Given the description of an element on the screen output the (x, y) to click on. 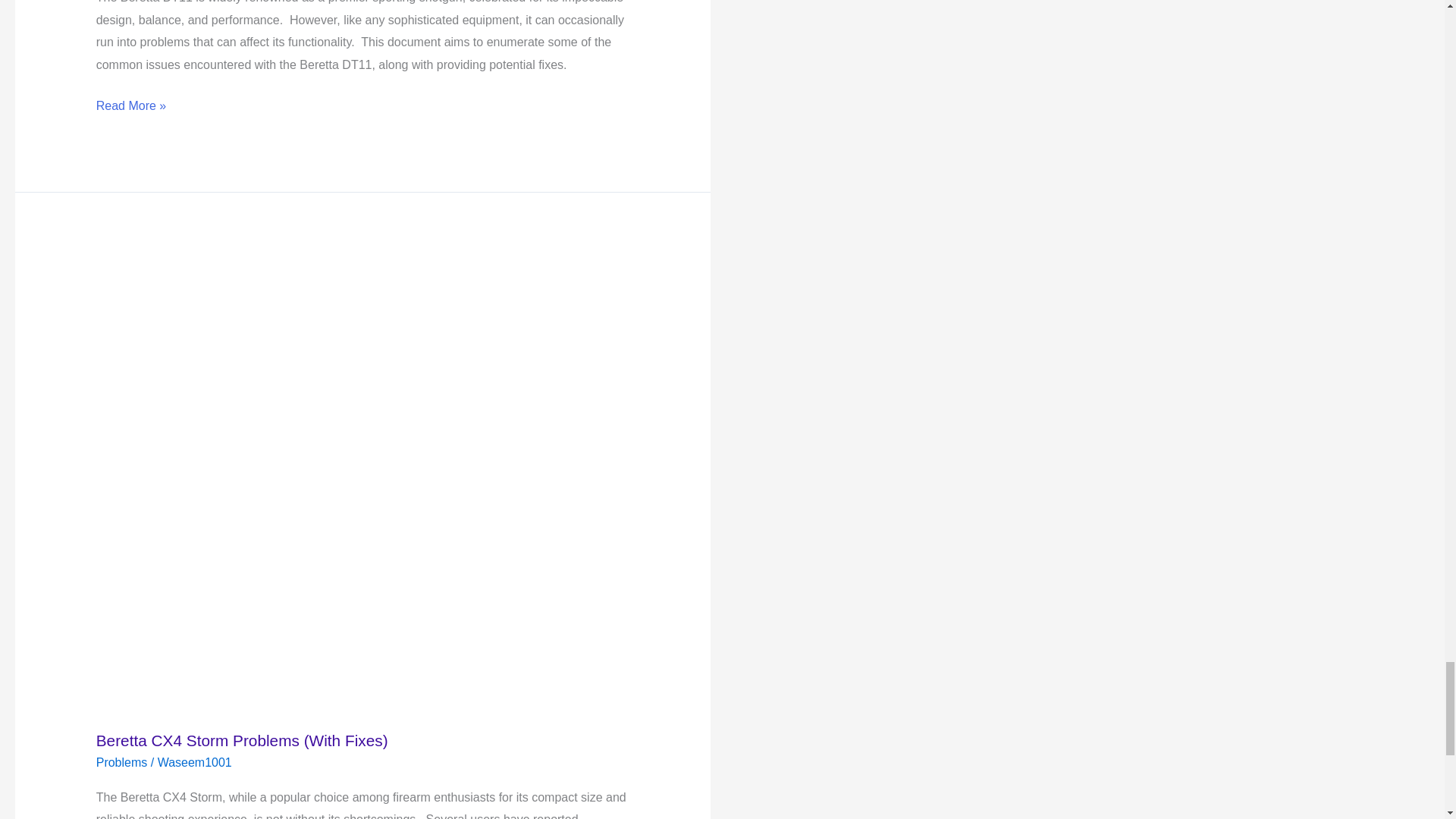
View all posts by Waseem1001 (194, 762)
